Given the description of an element on the screen output the (x, y) to click on. 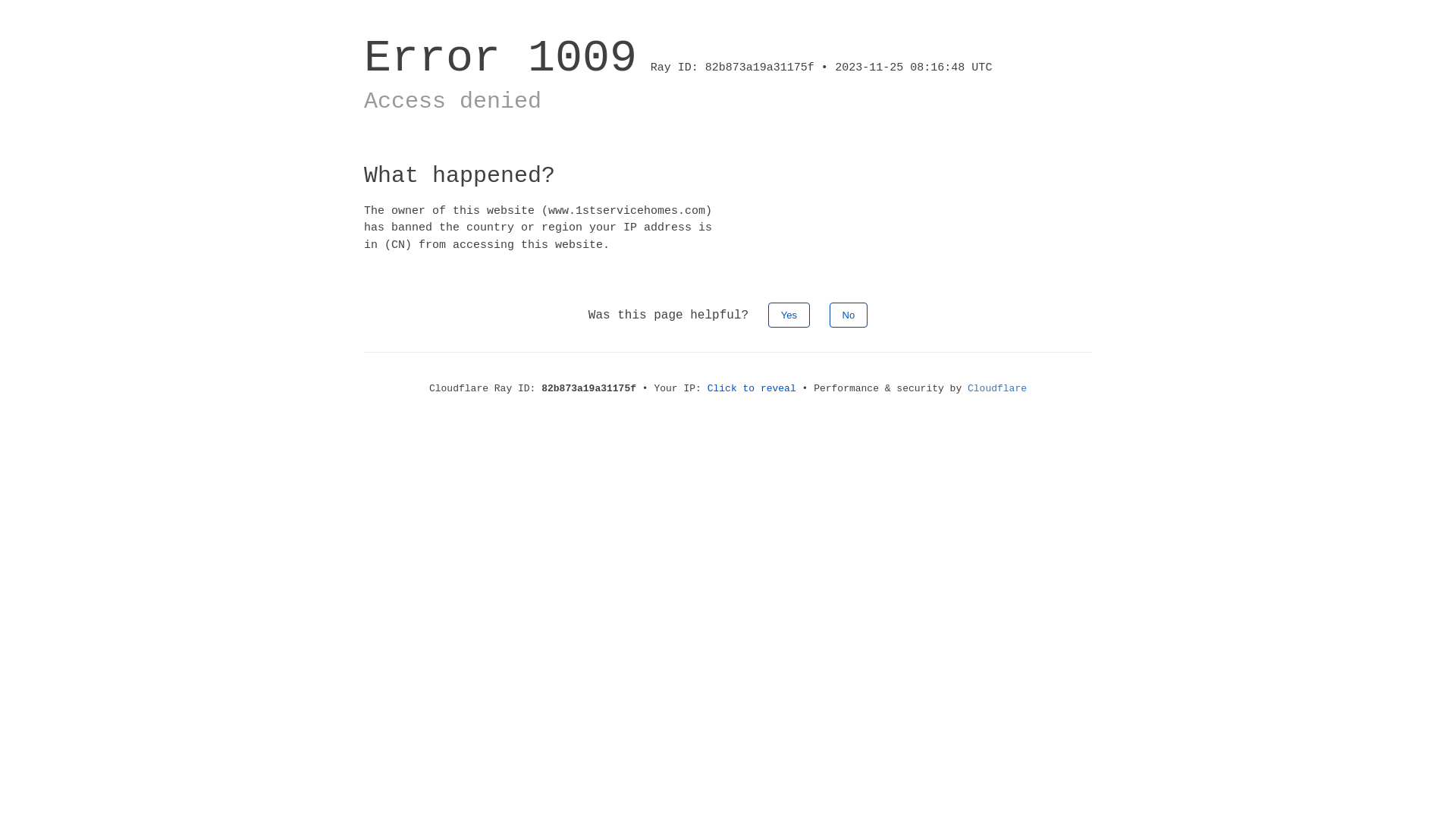
Yes Element type: text (788, 314)
Click to reveal Element type: text (751, 388)
No Element type: text (848, 314)
Cloudflare Element type: text (996, 388)
